Given the description of an element on the screen output the (x, y) to click on. 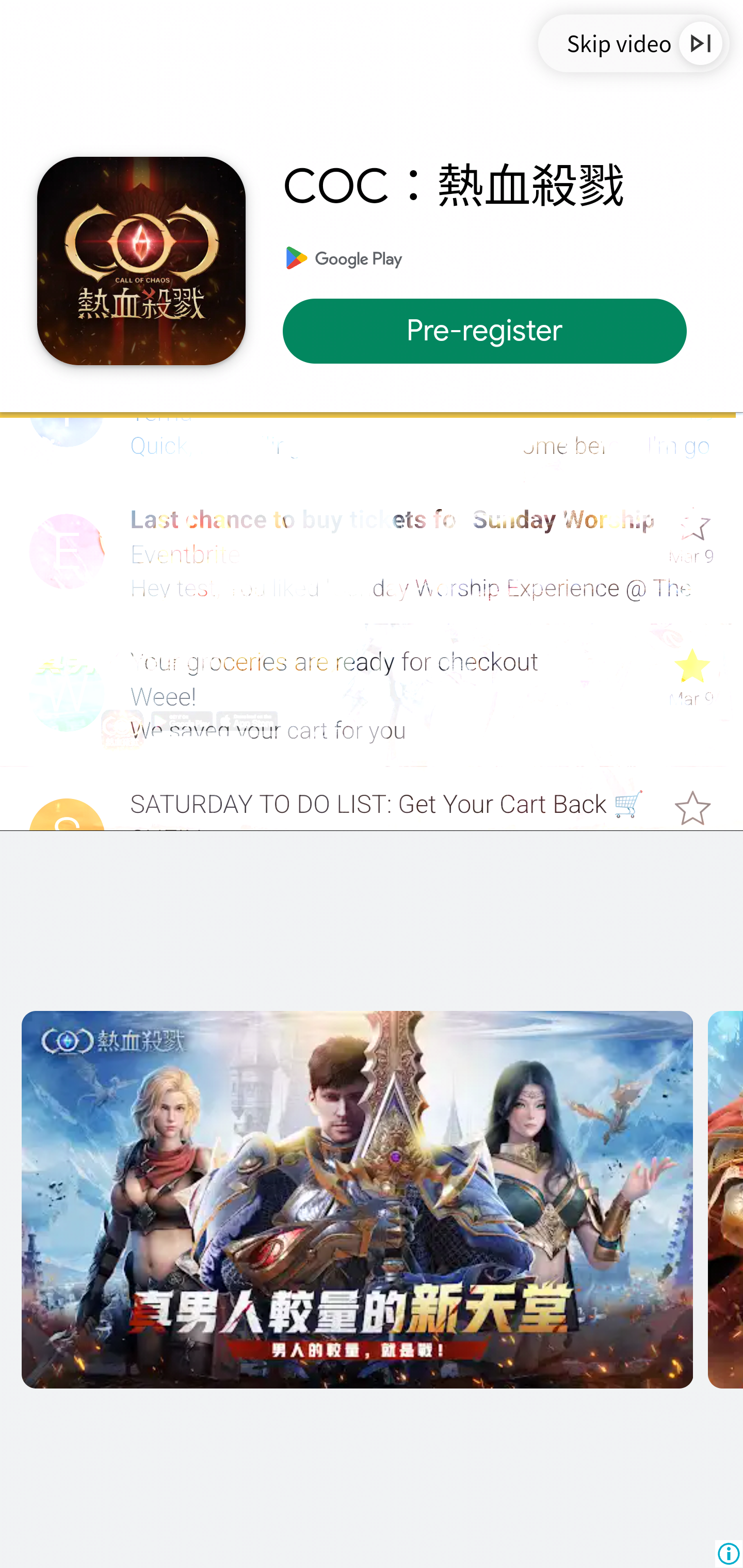
Pre-register (494, 331)
